Given the description of an element on the screen output the (x, y) to click on. 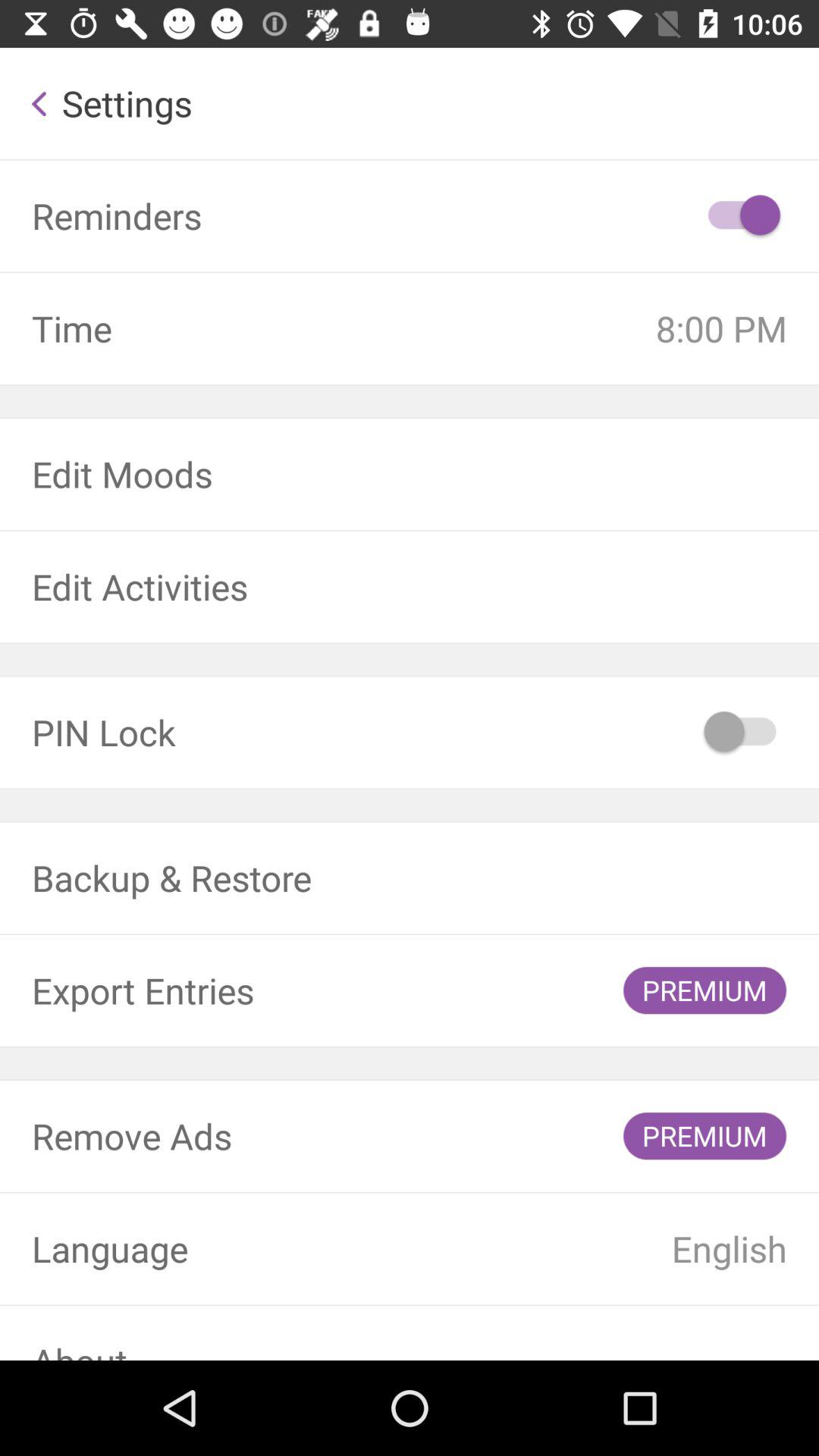
turn on icon next to reminders item (742, 216)
